Given the description of an element on the screen output the (x, y) to click on. 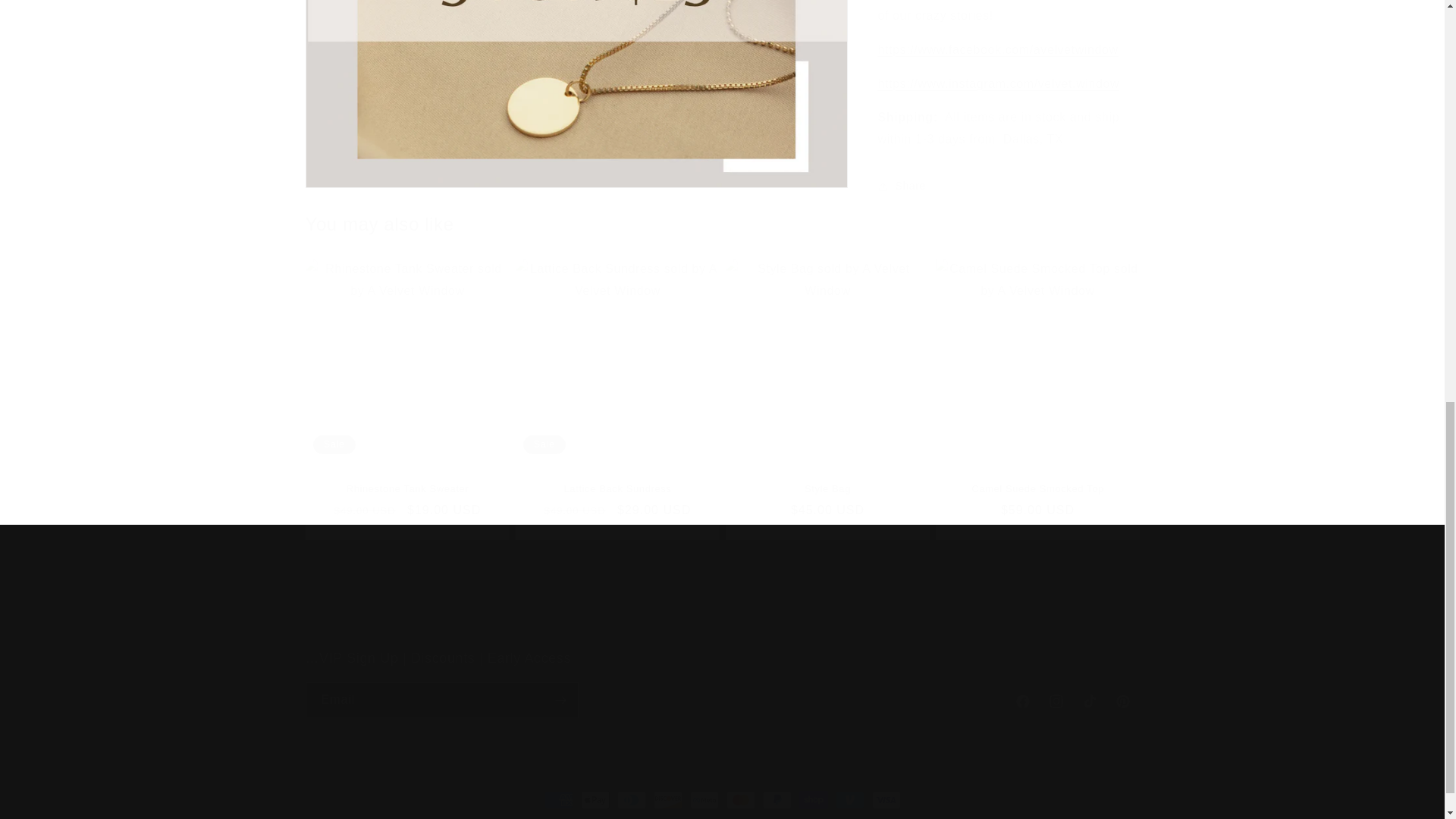
A Velvet Window Facebook Page (998, 72)
A Velvet Window Facebook Page (997, 38)
